Given the description of an element on the screen output the (x, y) to click on. 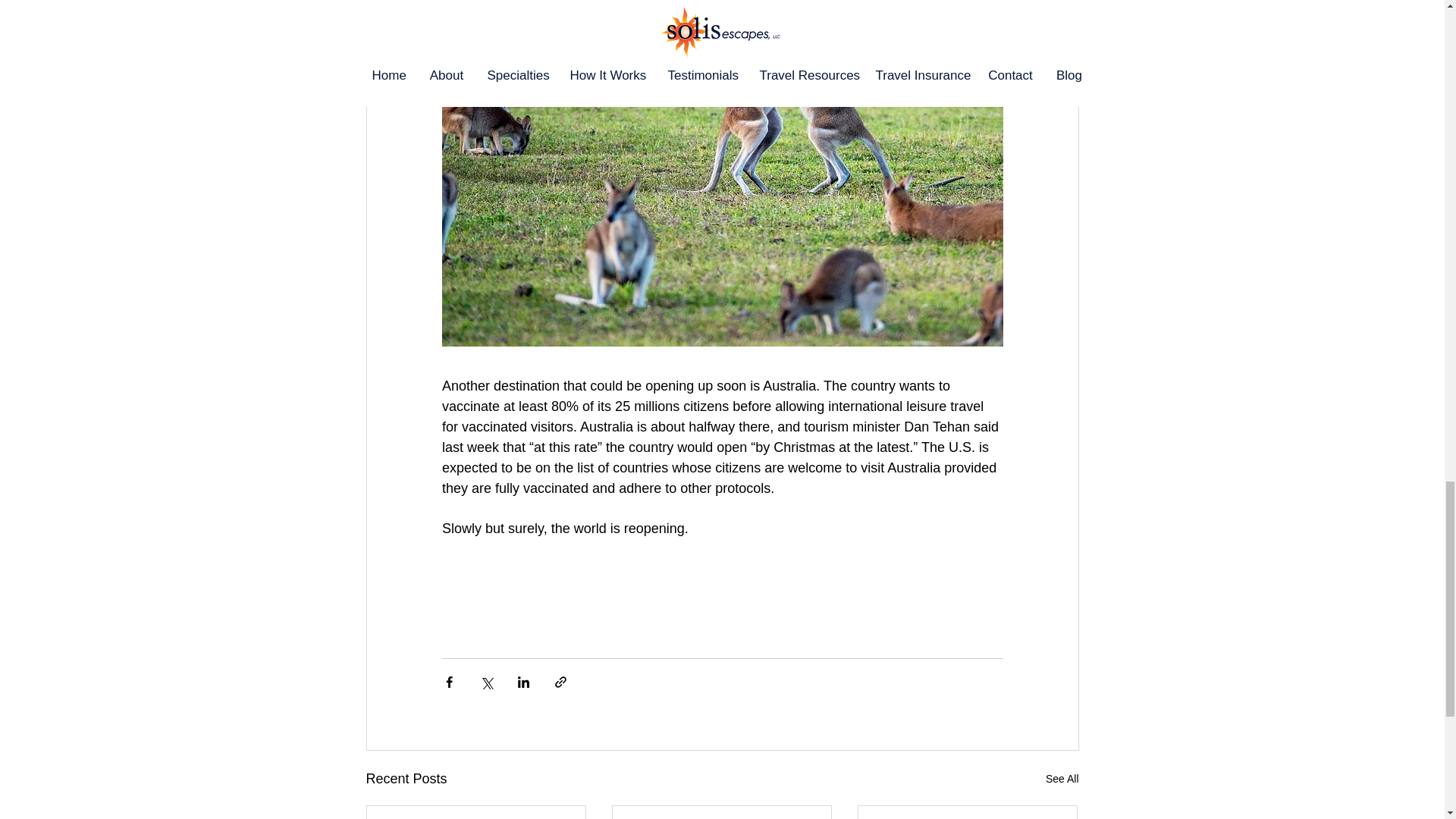
See All (1061, 779)
